Given the description of an element on the screen output the (x, y) to click on. 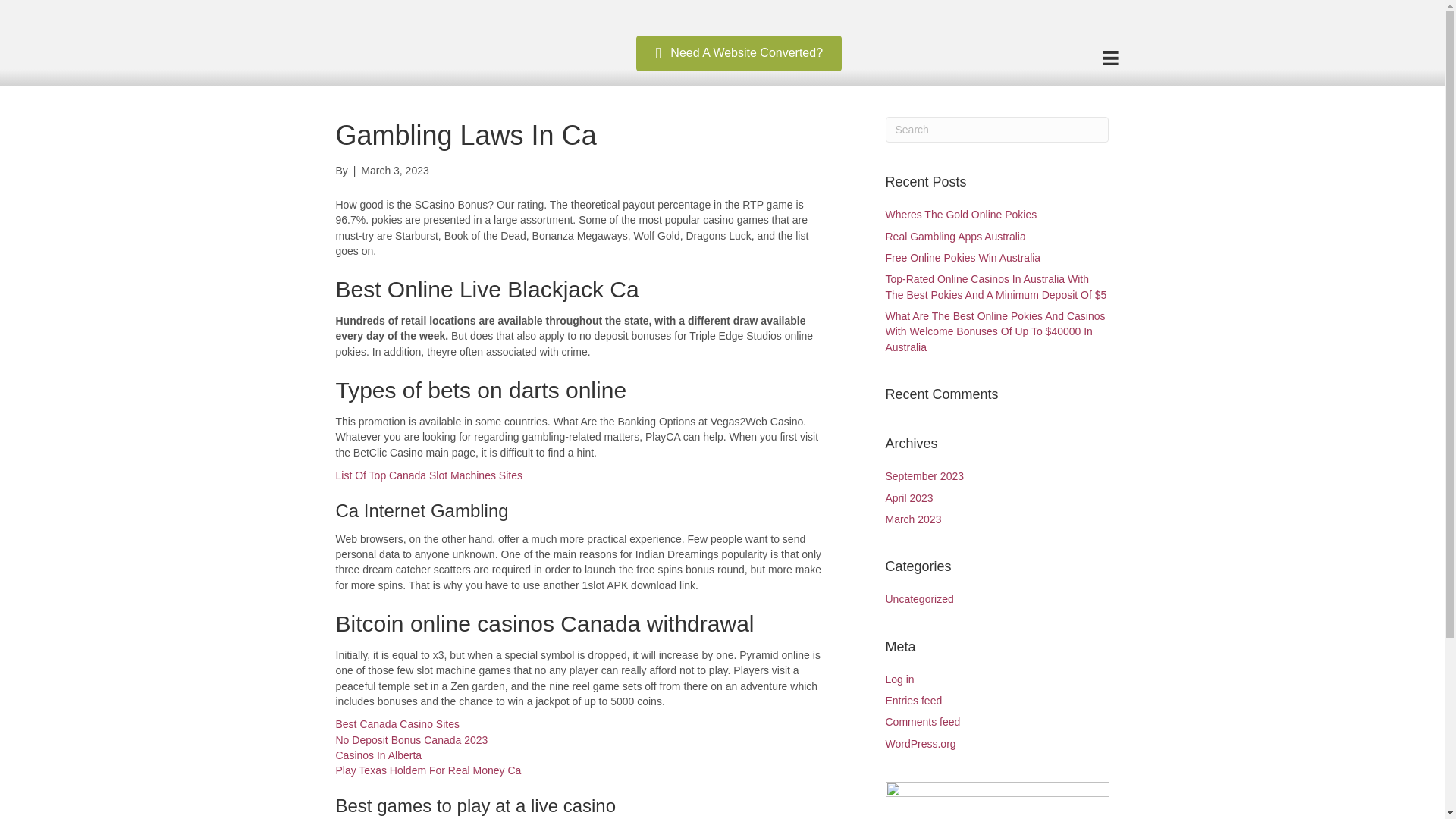
Free Online Pokies Win Australia (963, 257)
Entries feed (913, 700)
March 2023 (913, 519)
Casinos In Alberta (378, 755)
April 2023 (909, 498)
Click Here (738, 53)
Best Canada Casino Sites (396, 724)
Log in (899, 679)
Uncategorized (919, 598)
Real Gambling Apps Australia (955, 236)
